Given the description of an element on the screen output the (x, y) to click on. 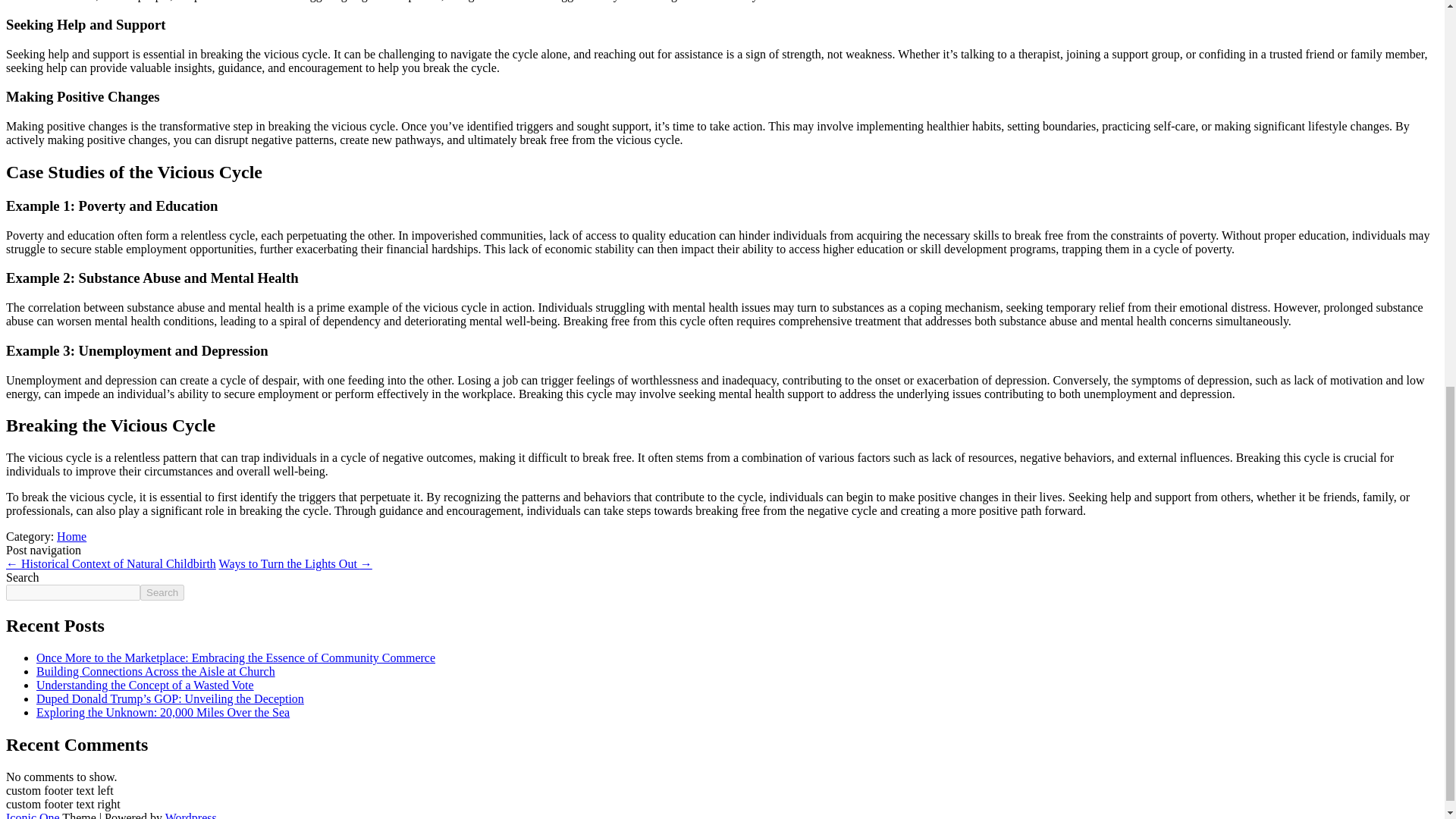
Understanding the Concept of a Wasted Vote (144, 684)
Building Connections Across the Aisle at Church (155, 671)
Exploring the Unknown: 20,000 Miles Over the Sea (162, 712)
Home (70, 535)
Search (161, 592)
